Given the description of an element on the screen output the (x, y) to click on. 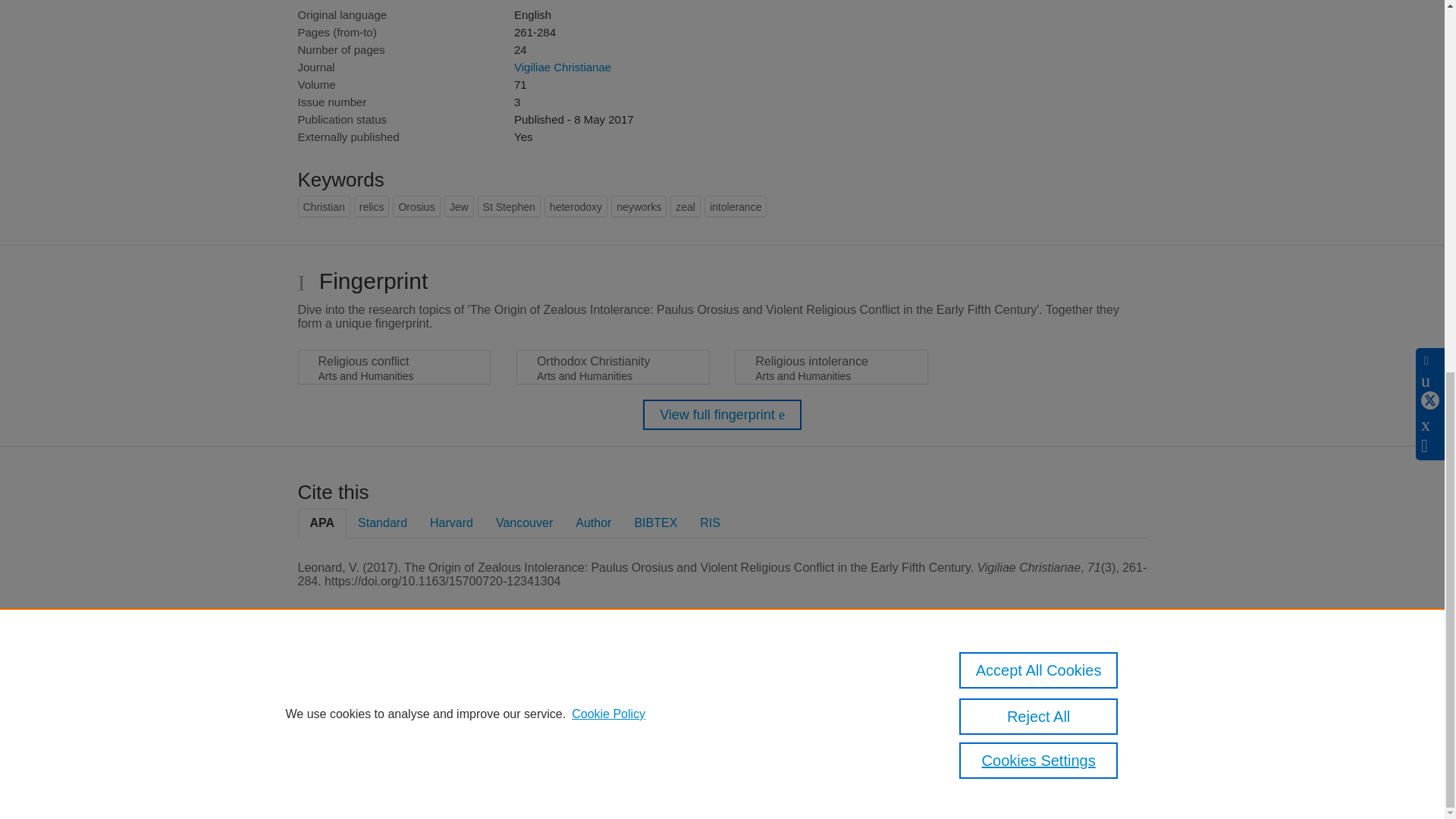
View full fingerprint (722, 414)
Pure (362, 686)
use of cookies (796, 739)
Scopus (394, 686)
Elsevier B.V. (506, 707)
Vigiliae Christianae (562, 66)
